Given the description of an element on the screen output the (x, y) to click on. 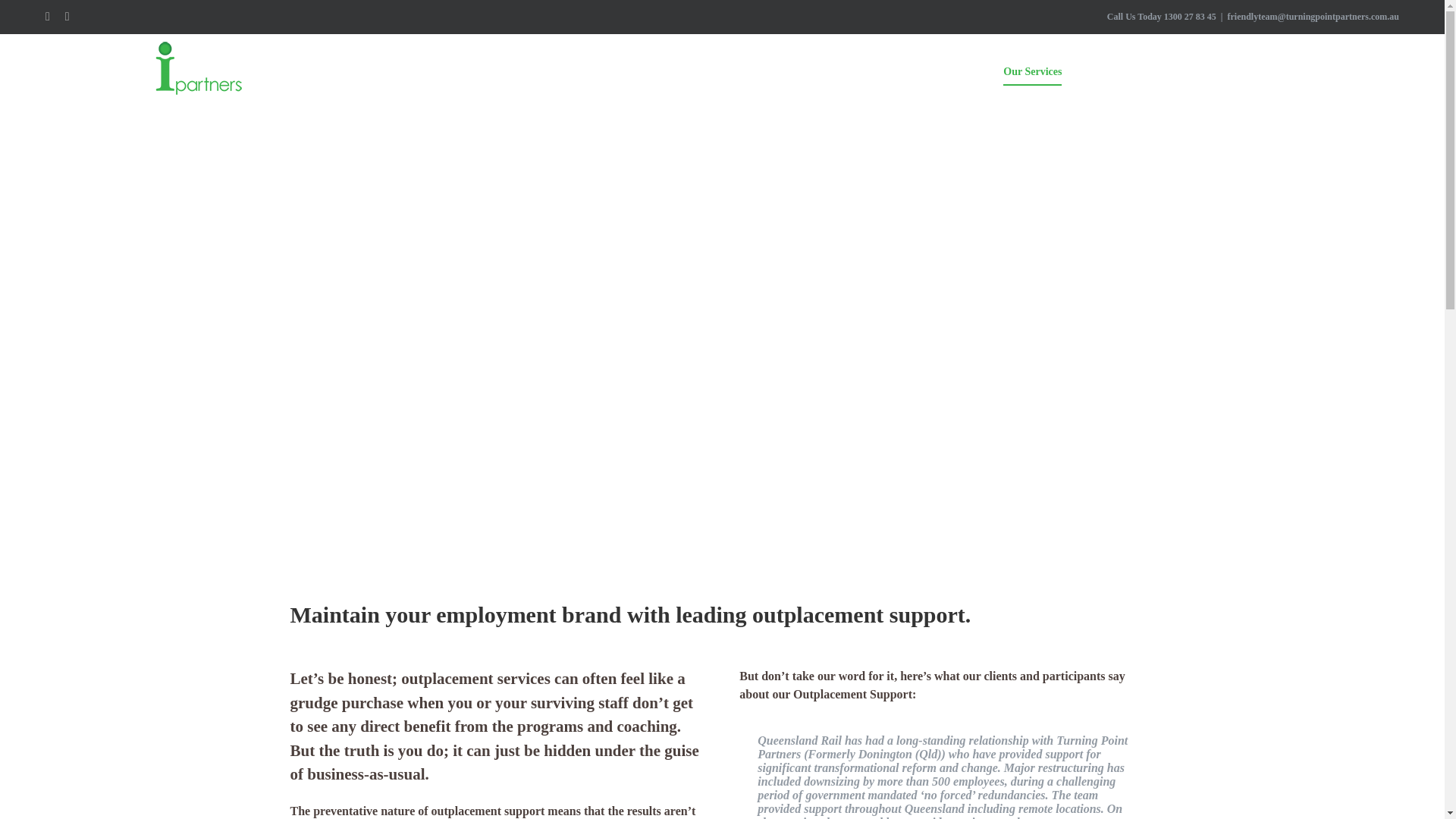
1300 27 83 45 (1189, 16)
Members Login (1334, 71)
The TPP Toolkit (1121, 71)
